Given the description of an element on the screen output the (x, y) to click on. 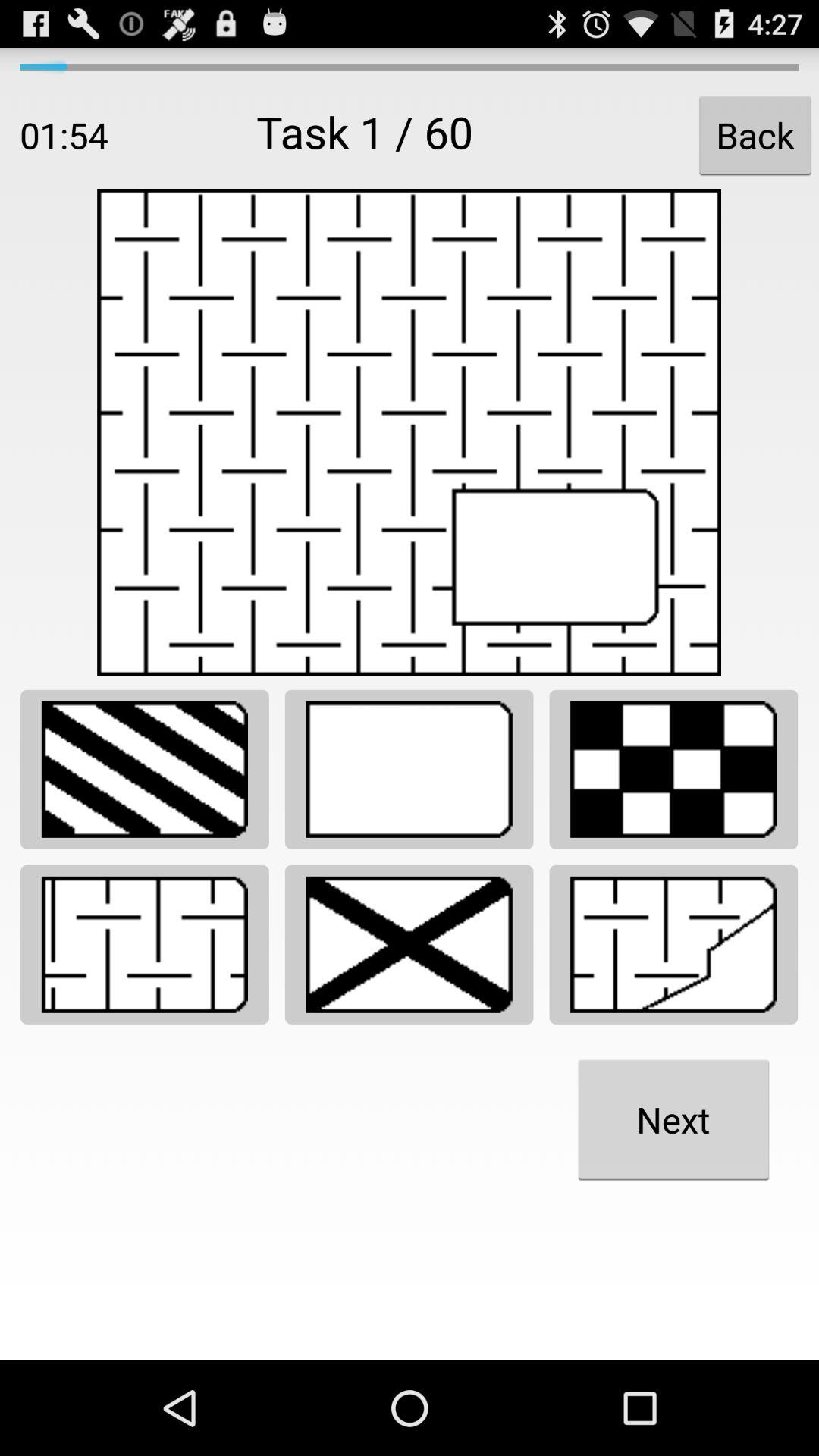
mismatched section (673, 944)
